Given the description of an element on the screen output the (x, y) to click on. 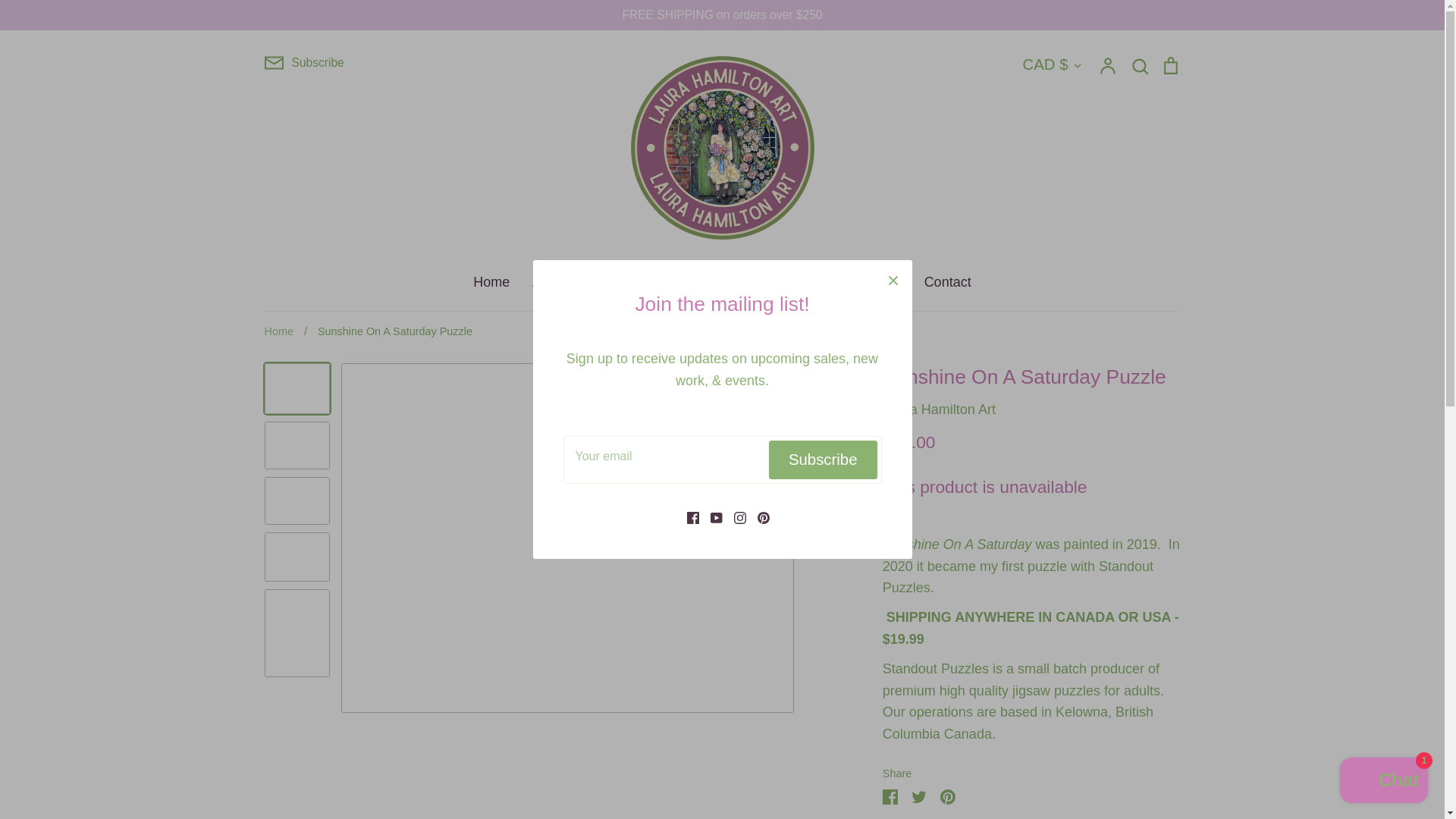
Search (1139, 65)
Account (1107, 65)
Shopify online store chat (1383, 781)
Shop (607, 281)
Home (491, 281)
Cart (1169, 65)
About (549, 281)
Subscribe (303, 62)
